Given the description of an element on the screen output the (x, y) to click on. 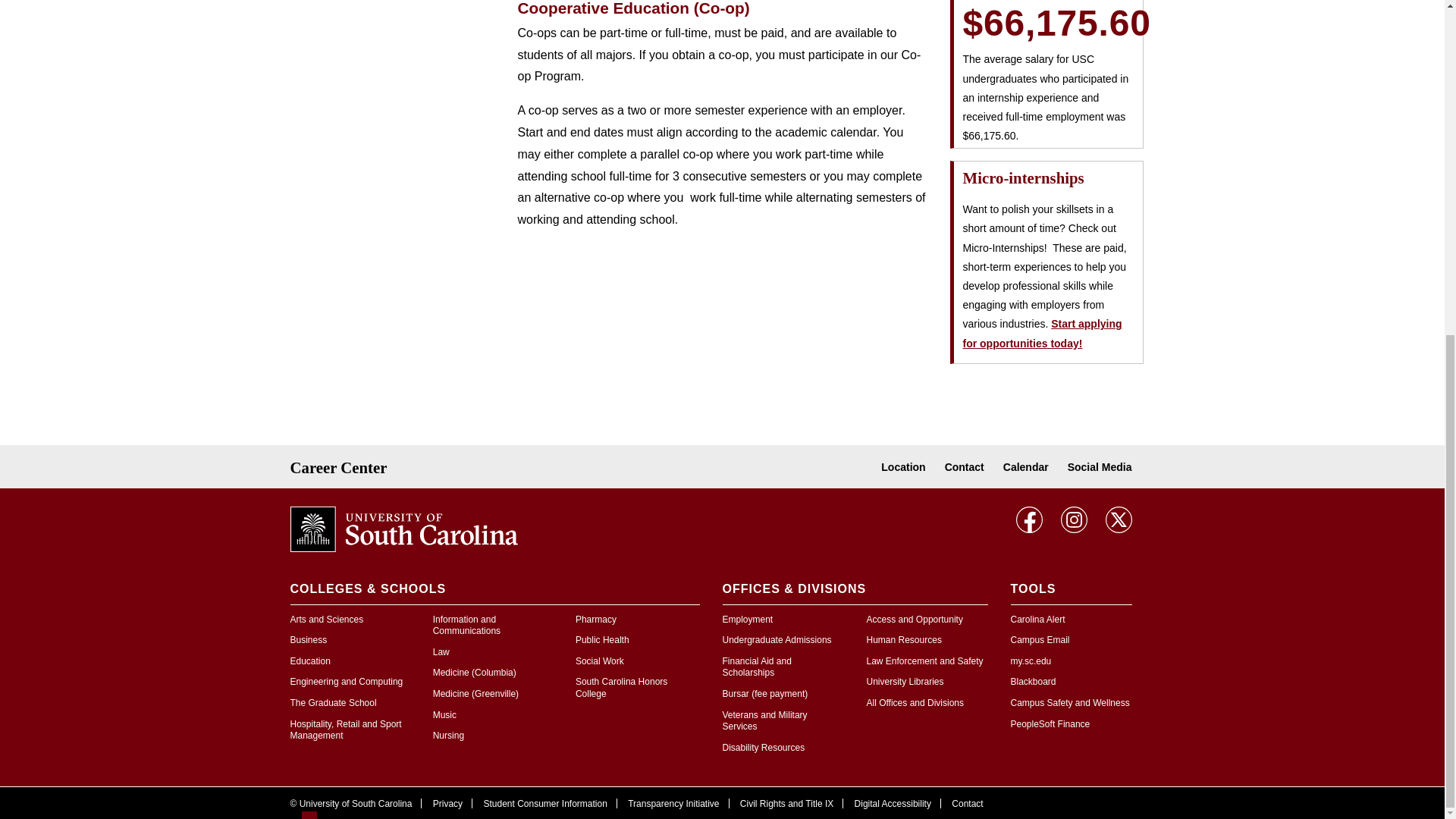
University of South Carolina (402, 527)
